Given the description of an element on the screen output the (x, y) to click on. 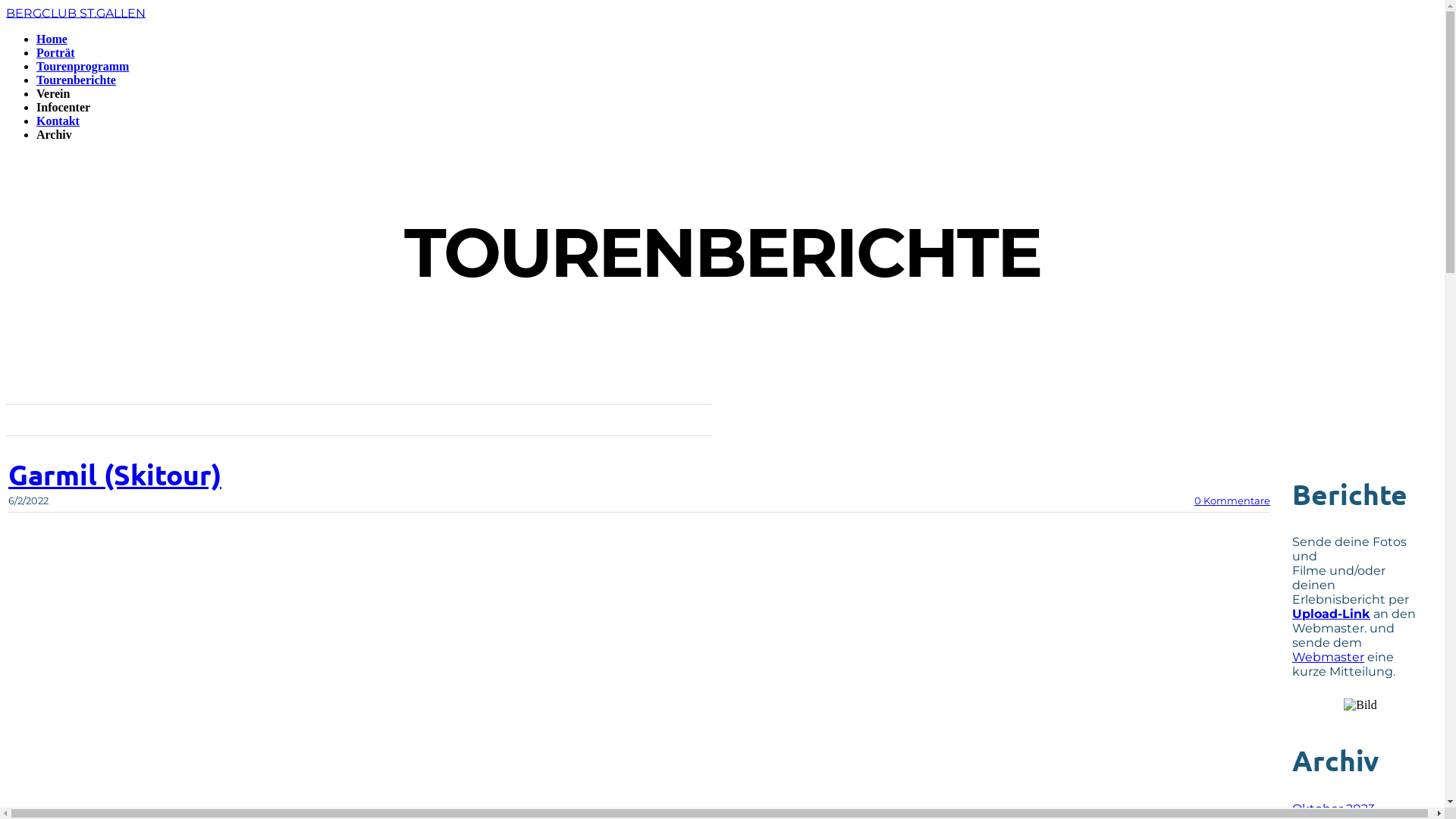
Home Element type: text (51, 38)
0 Kommentare Element type: text (1232, 500)
Infocenter Element type: text (63, 106)
Archiv Element type: text (54, 134)
Oktober 2023 Element type: text (1333, 808)
Kontakt Element type: text (57, 120)
Upload-Link Element type: text (1331, 613)
Webmaster Element type: text (1328, 656)
Verein Element type: text (52, 93)
Tourenberichte Element type: text (76, 79)
BERGCLUB ST.GALLEN Element type: text (75, 12)
Tourenprogramm Element type: text (82, 65)
Garmil (Skitour) Element type: text (114, 474)
